Given the description of an element on the screen output the (x, y) to click on. 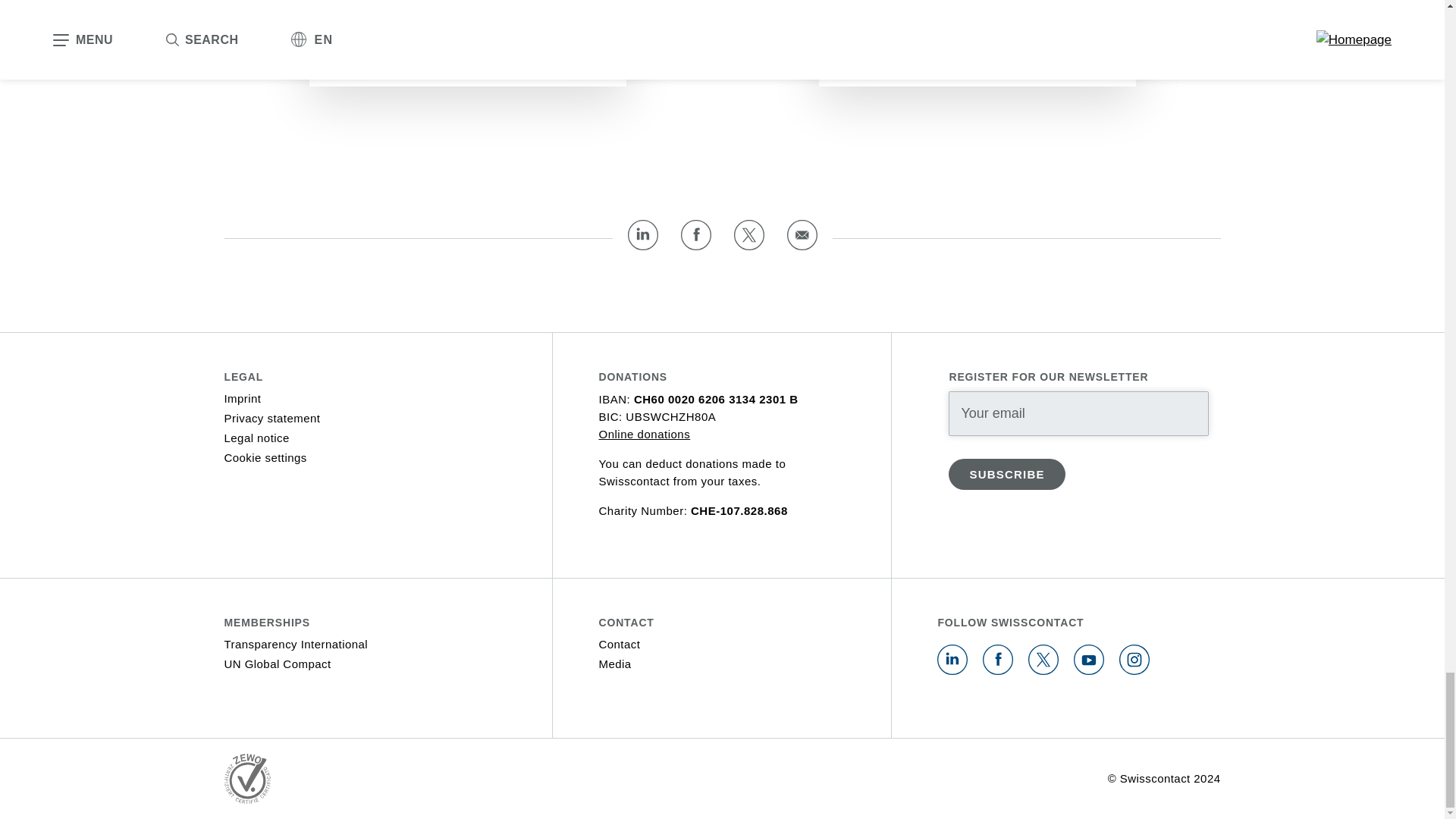
Learn more (386, 59)
Learn more (895, 59)
Subscribe (1006, 473)
